Given the description of an element on the screen output the (x, y) to click on. 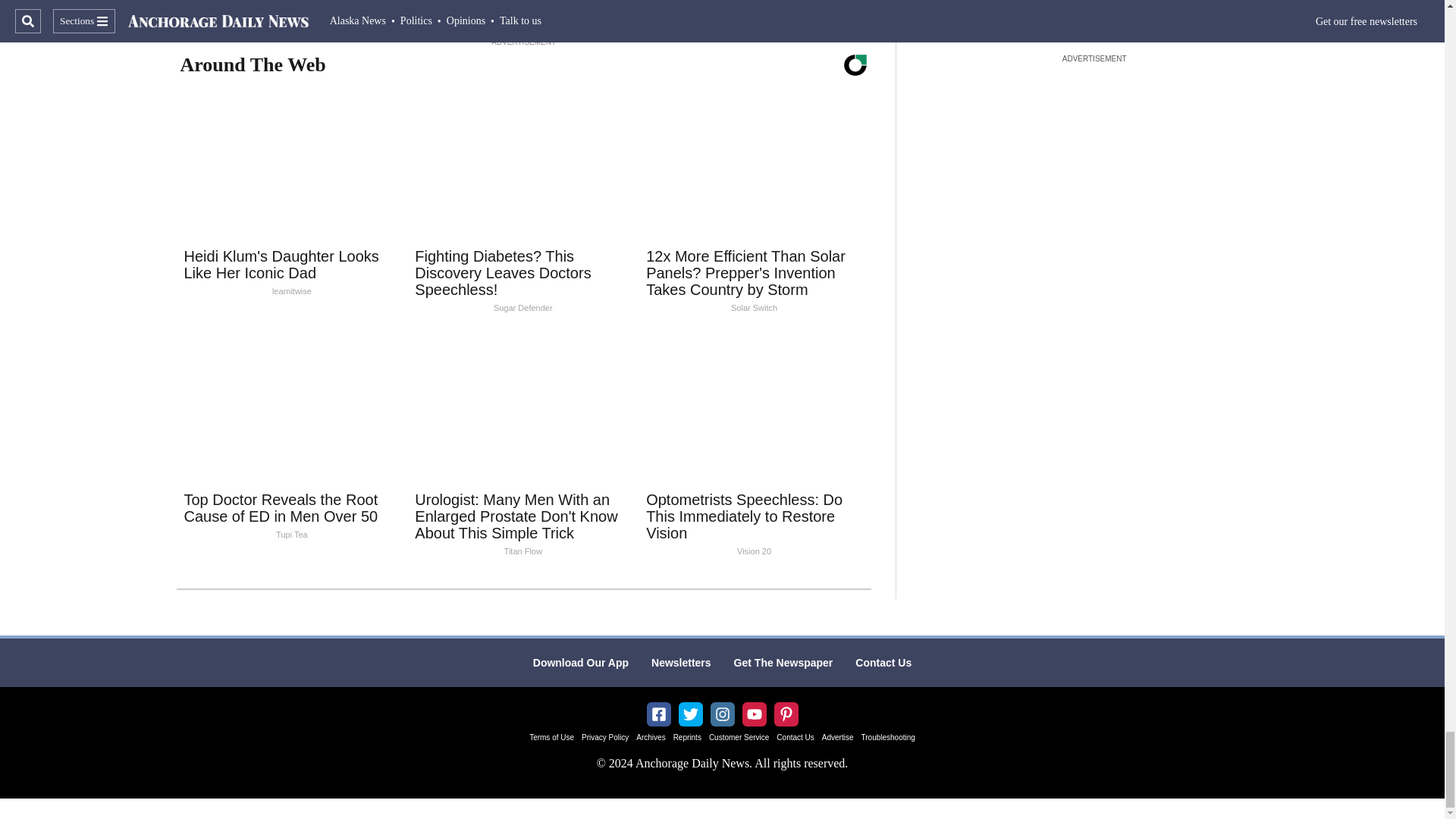
Twitter IconTwitter Account for Anchorage Daily News (689, 713)
YouTube iconAnchorage Daily News YouTube channel (753, 713)
Instagram IconAnchorage Daily News instagram account (721, 713)
PinterestAnchorage Daily News Pinterest Account (785, 713)
Facebook IconAnchorage Daily News Facebook Page (657, 713)
